Given the description of an element on the screen output the (x, y) to click on. 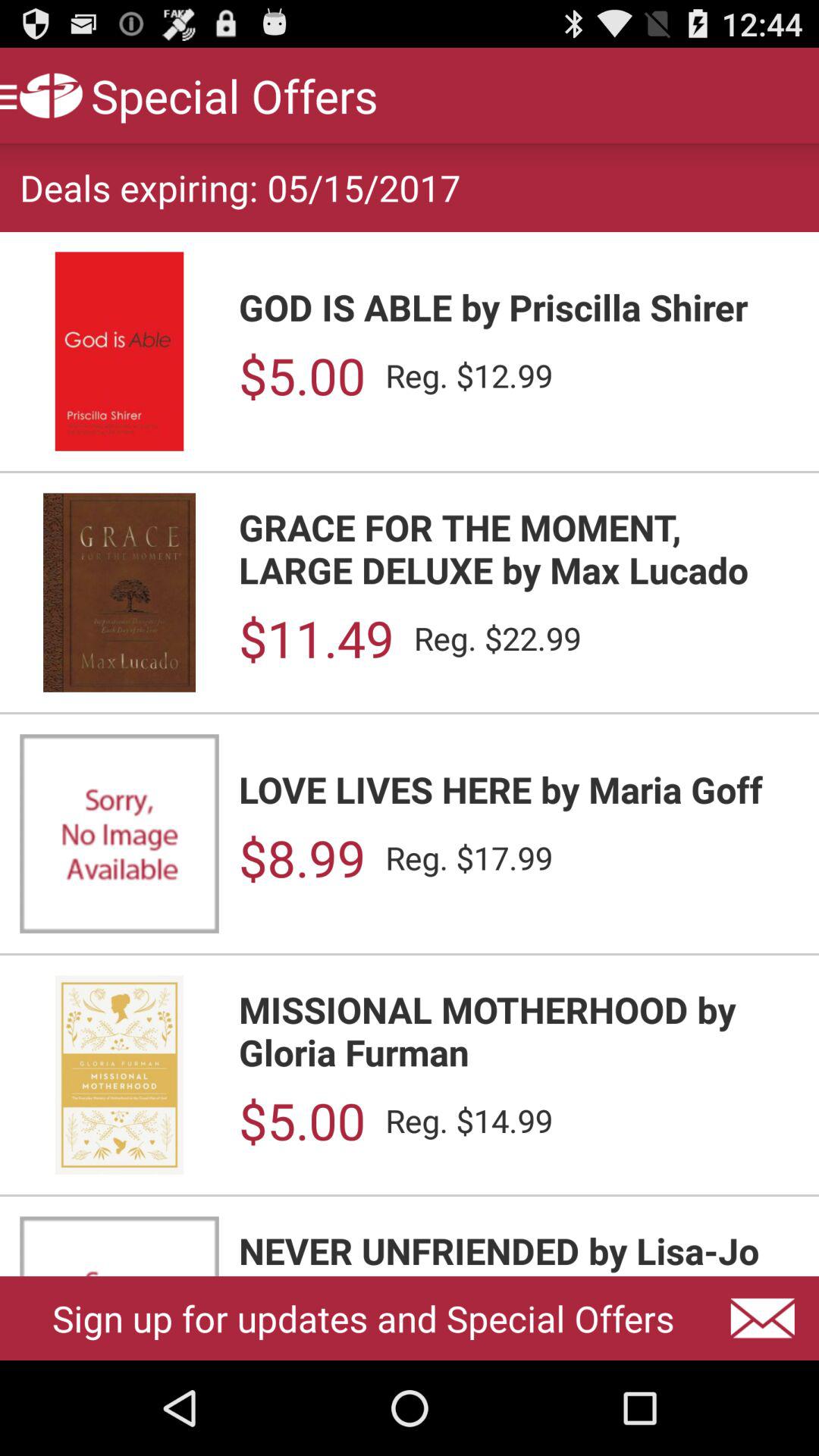
scroll to missional motherhood by icon (518, 1030)
